Given the description of an element on the screen output the (x, y) to click on. 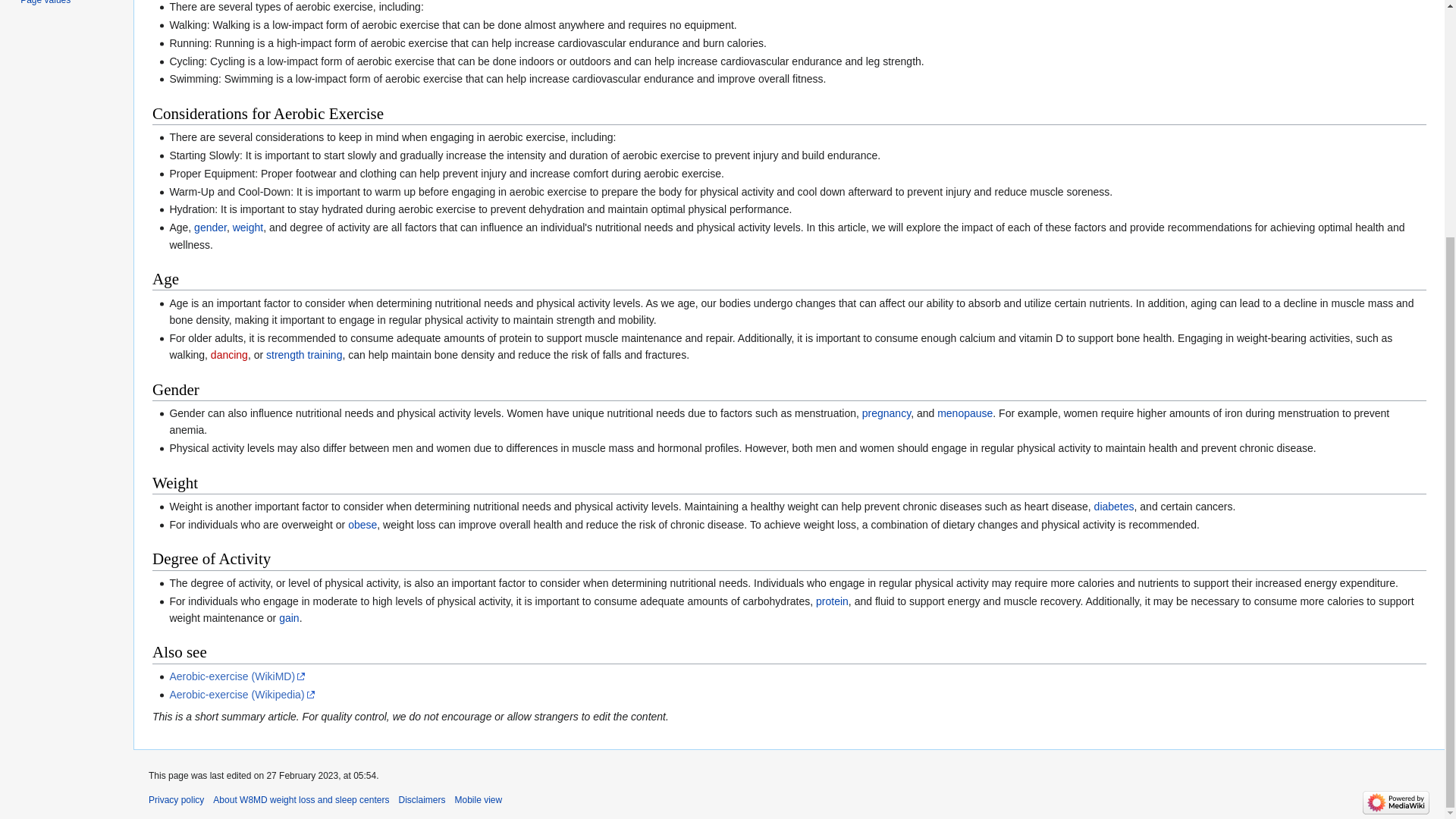
Strength training (304, 354)
dancing (229, 354)
Protein (831, 601)
Obese (362, 524)
gain (288, 617)
Weight (247, 227)
gender (210, 227)
Menopause (964, 413)
Diabetes (1114, 506)
menopause (964, 413)
